Given the description of an element on the screen output the (x, y) to click on. 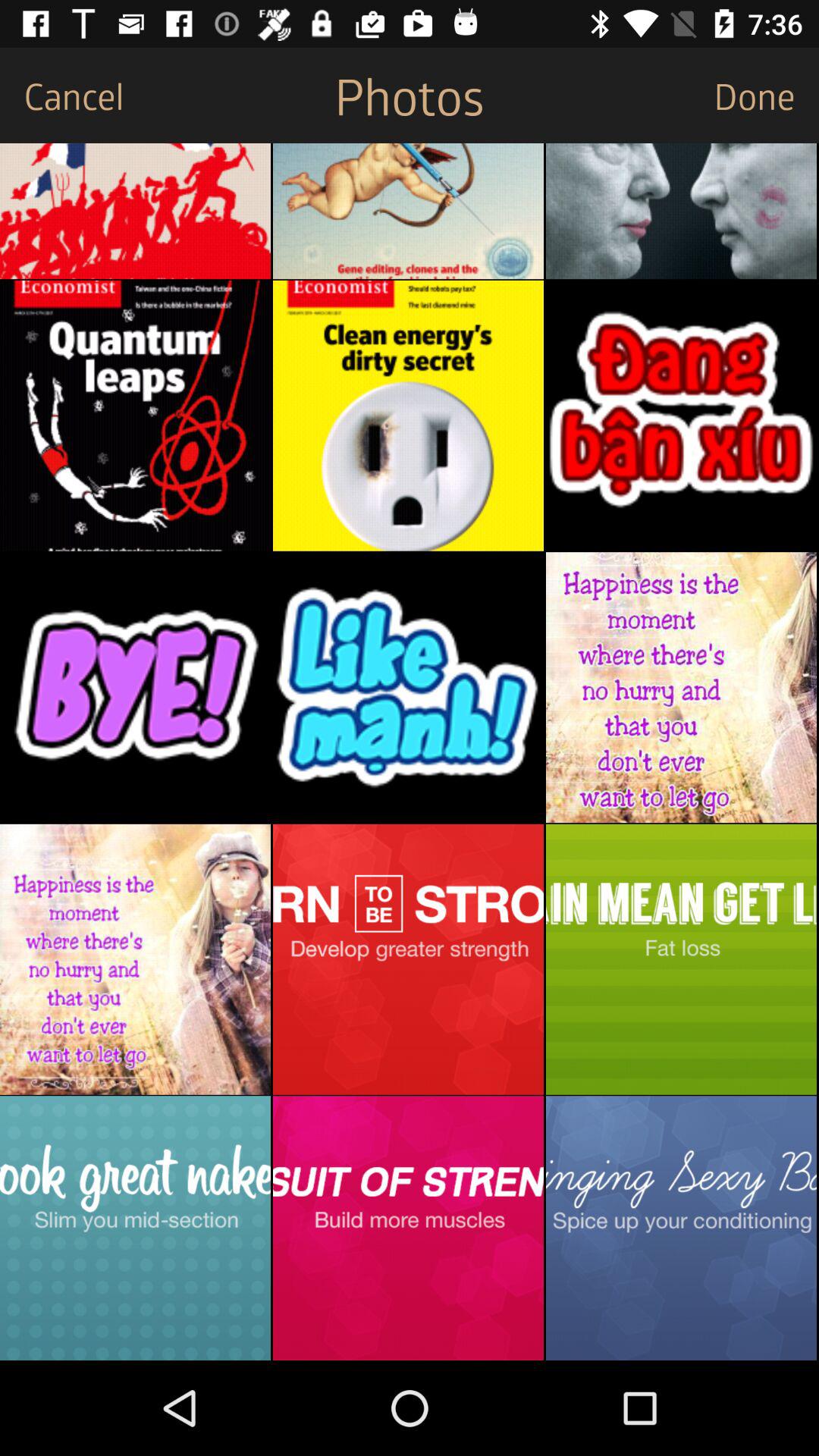
click image (681, 415)
